Given the description of an element on the screen output the (x, y) to click on. 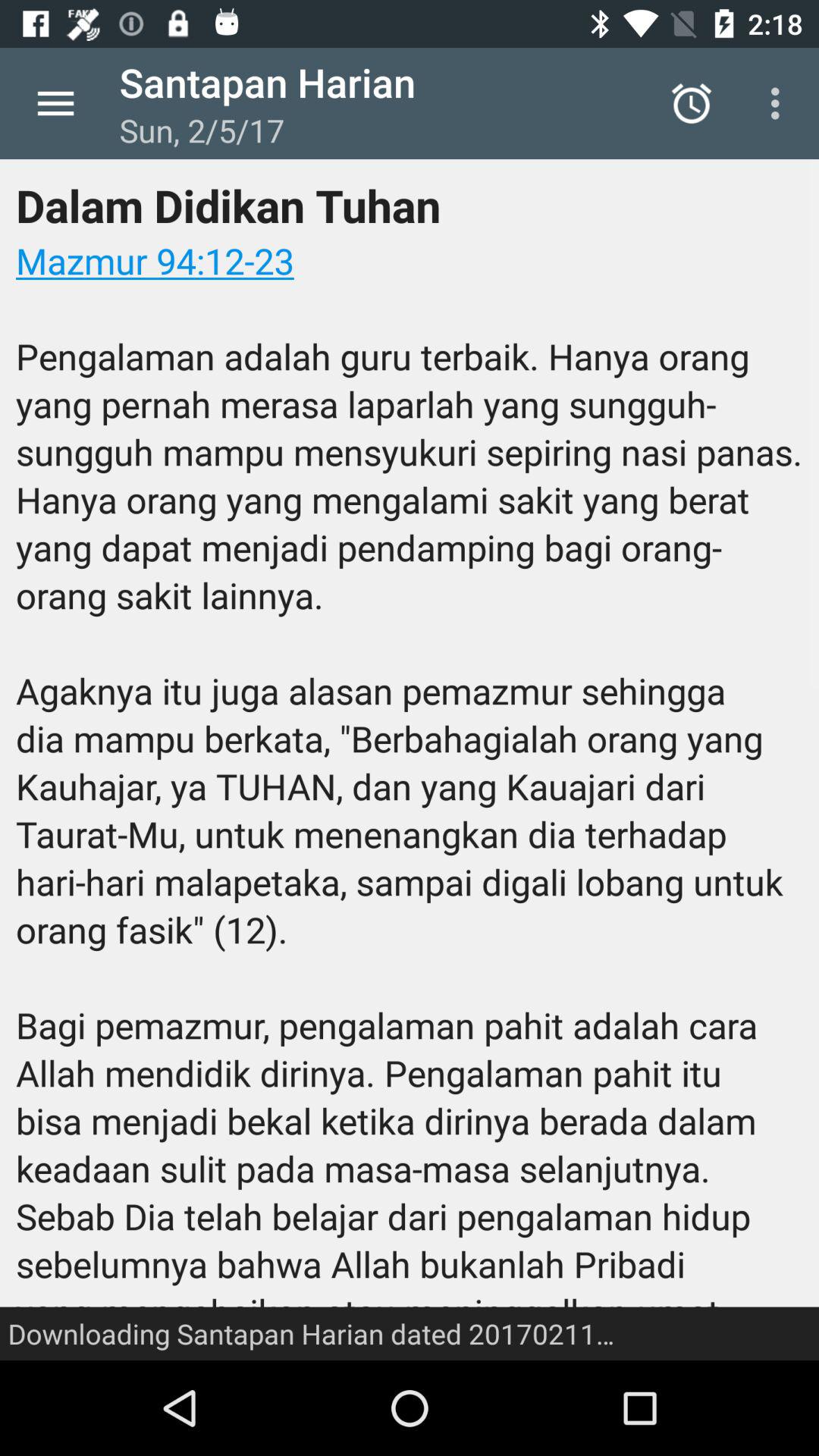
select icon to the left of santapan harian icon (55, 103)
